Given the description of an element on the screen output the (x, y) to click on. 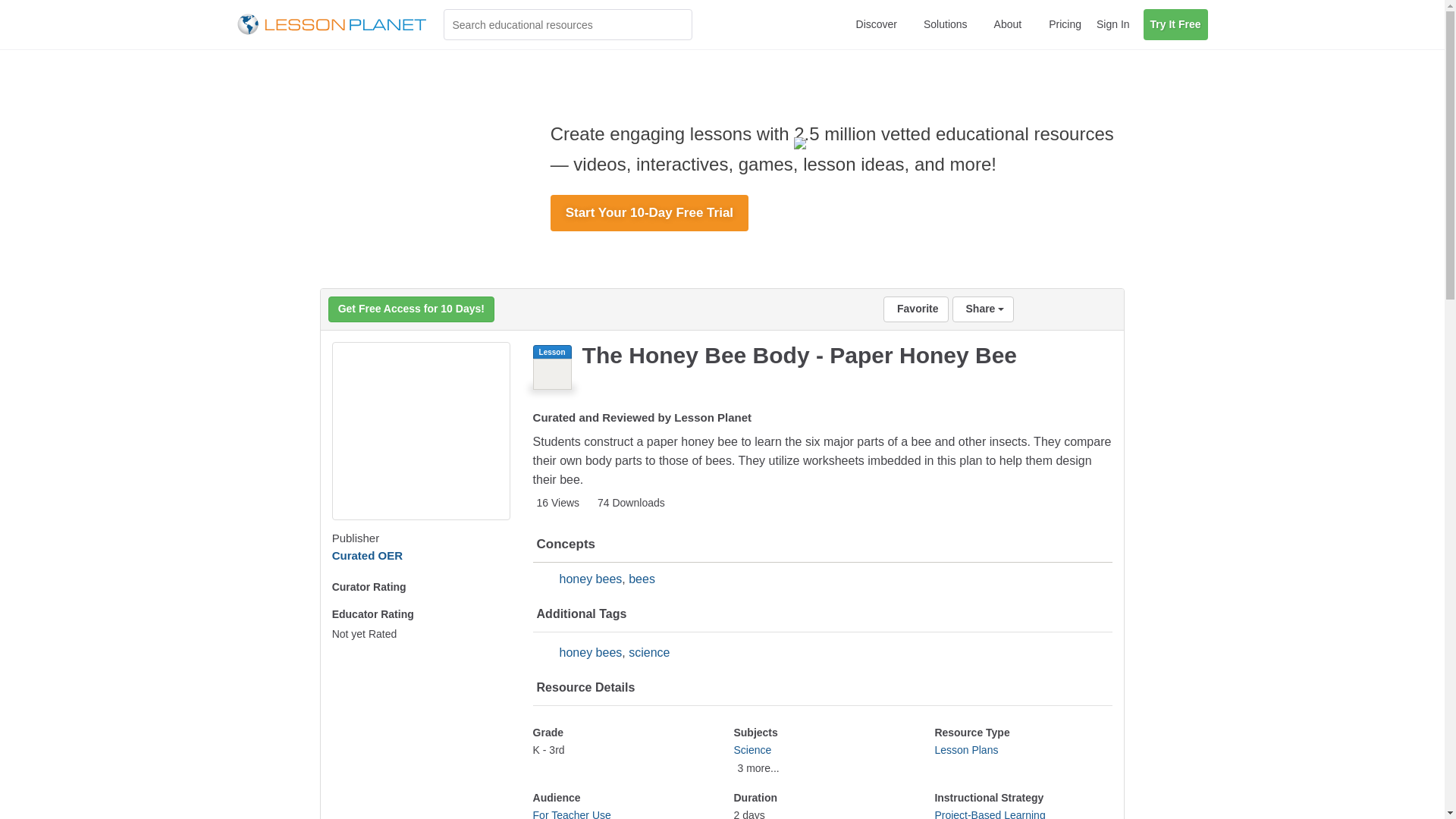
Get Free Access for 10 Days! (412, 309)
Search (676, 24)
Sign In (1113, 24)
Grade (621, 750)
The Honey Bee Body - Paper Honey Bee Lesson Plan (421, 431)
Favorite (915, 309)
science (648, 652)
Try It Free (1175, 24)
Share (983, 309)
bees (641, 578)
Pricing (1065, 24)
honey bees (591, 652)
honey bees (591, 578)
Curated OER (367, 554)
